Given the description of an element on the screen output the (x, y) to click on. 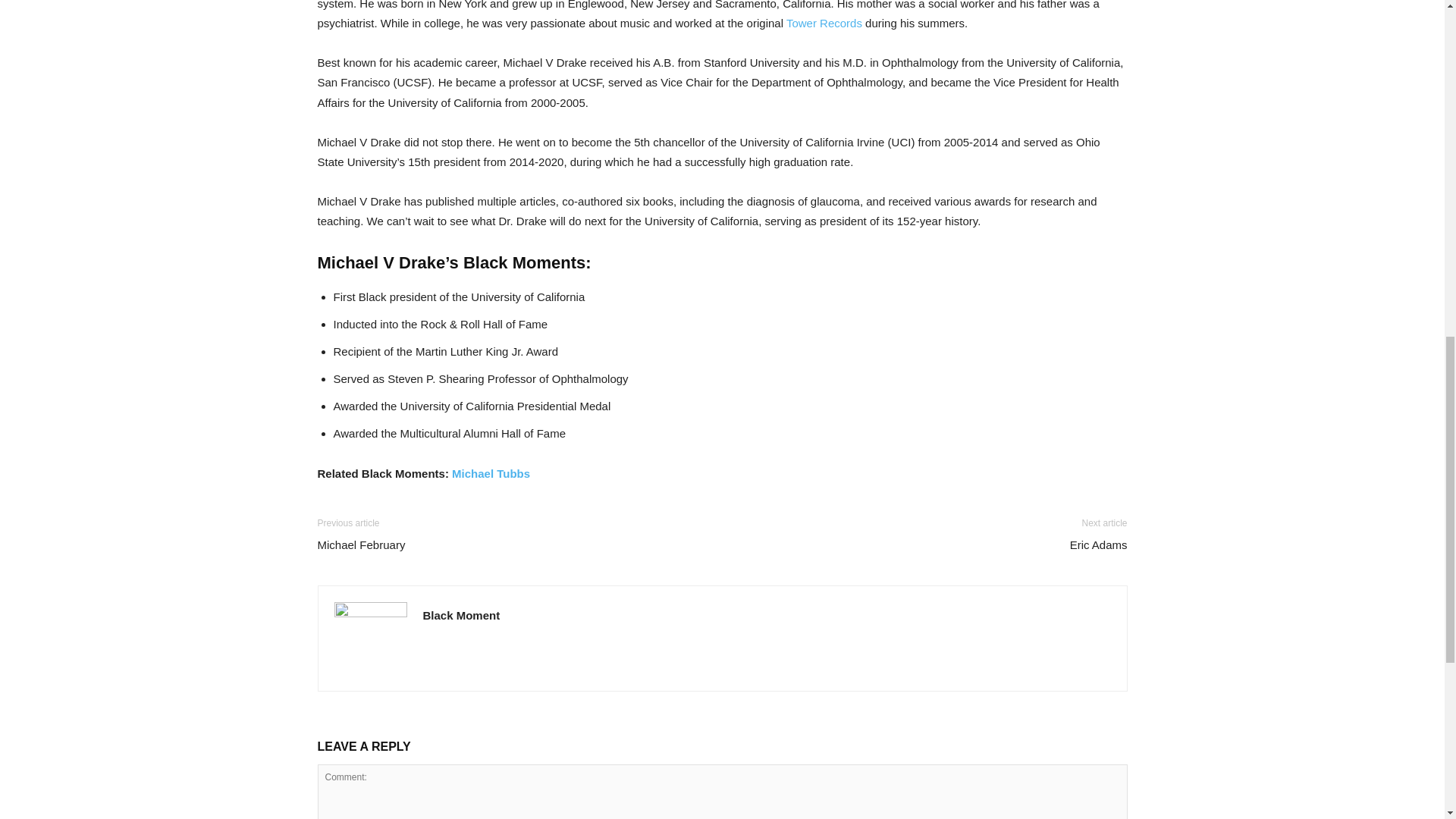
Eric Adams (1098, 544)
Tower Records (823, 22)
Michael February (360, 544)
Michael Tubbs (490, 472)
Black Moment (461, 615)
